Given the description of an element on the screen output the (x, y) to click on. 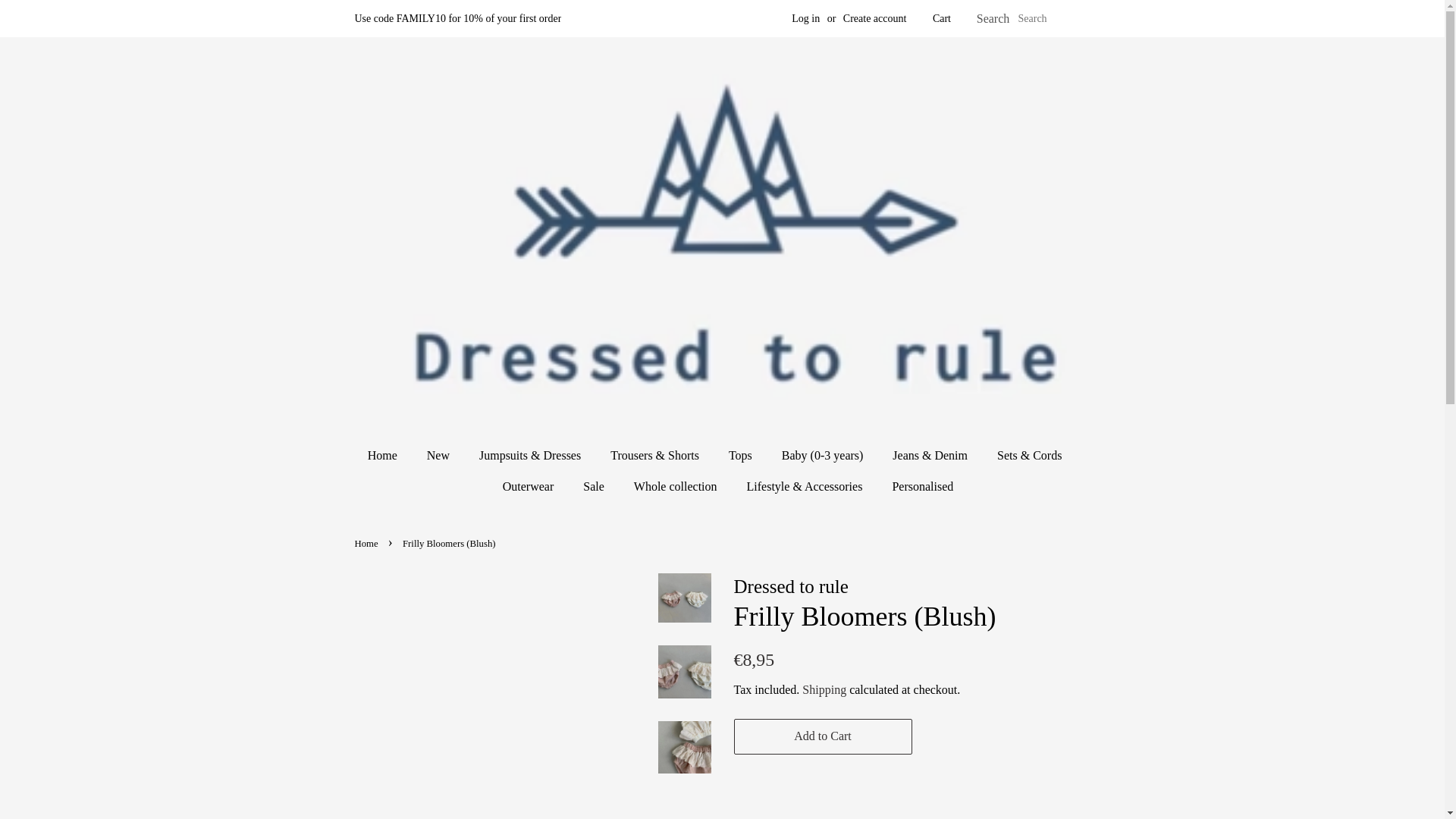
Home (390, 454)
Cart (941, 18)
Whole collection (677, 486)
Outerwear (530, 486)
Tops (742, 454)
Sale (596, 486)
Back to the frontpage (368, 543)
Log in (805, 18)
Personalised (916, 486)
Create account (875, 18)
